Given the description of an element on the screen output the (x, y) to click on. 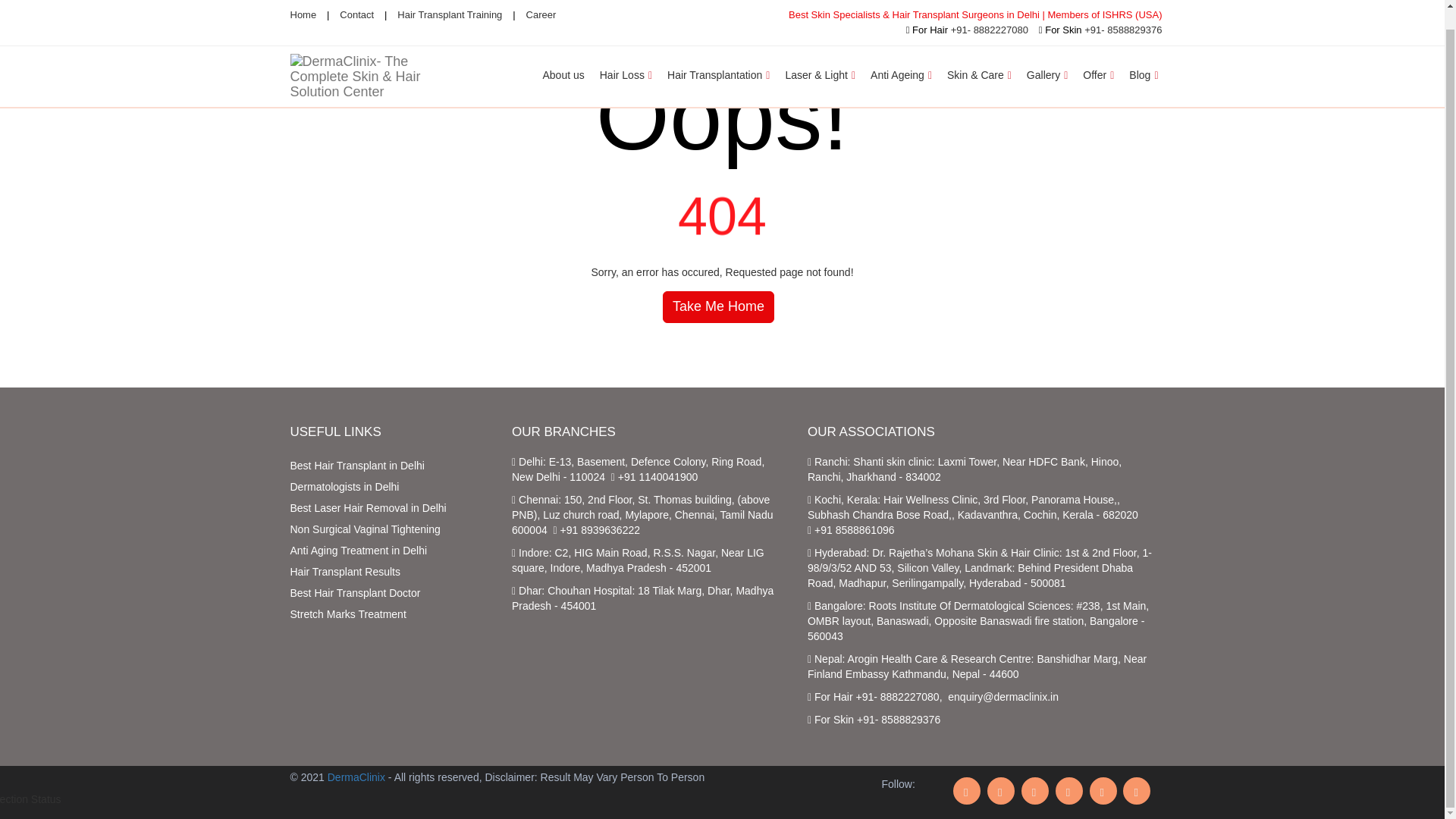
Contact (356, 0)
Career (540, 0)
Hair Transplant Training (449, 0)
Home (302, 0)
